Given the description of an element on the screen output the (x, y) to click on. 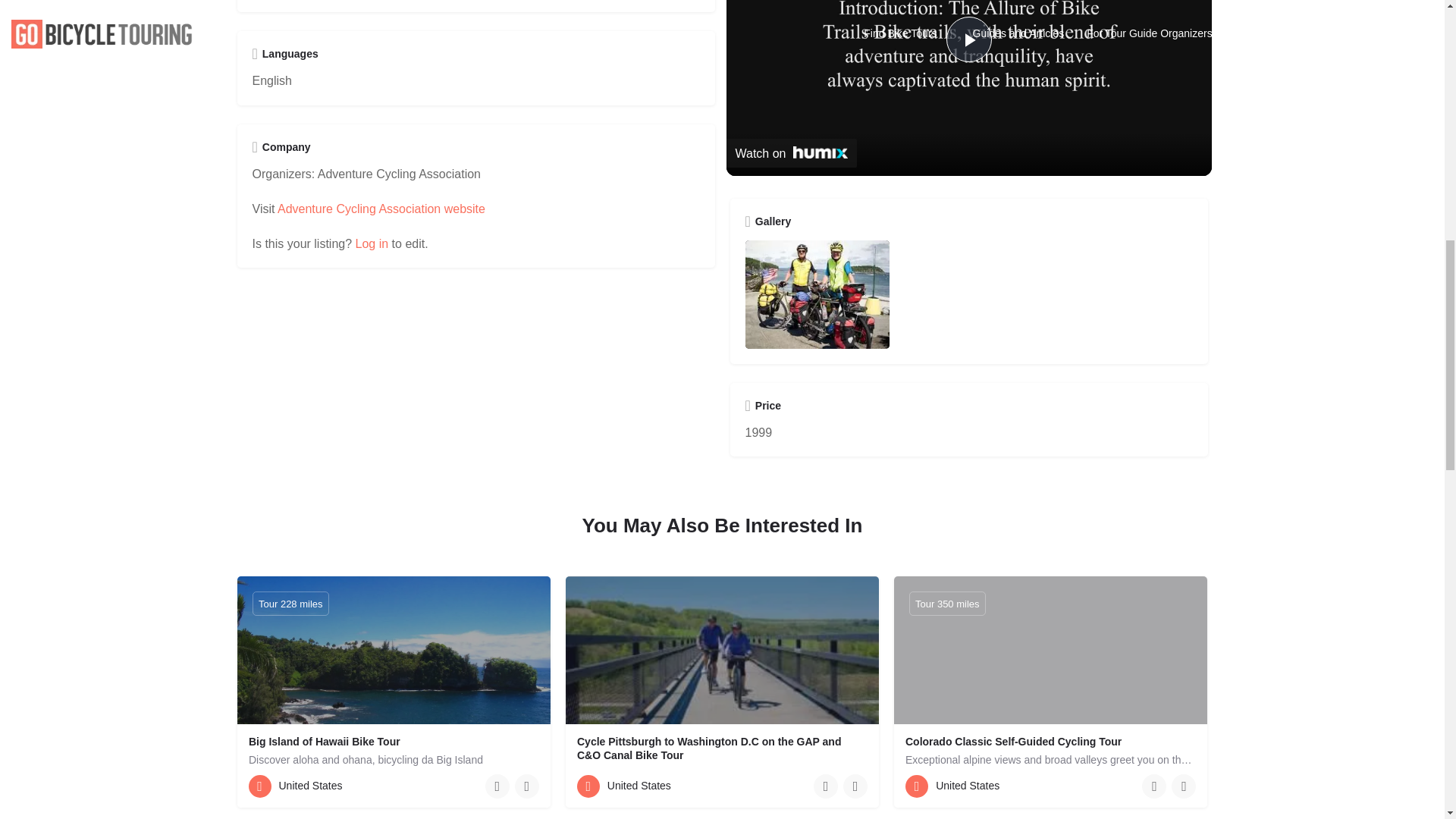
Play Video (968, 39)
Log in (371, 243)
Play Video (968, 39)
Adventure Cycling Association website (381, 208)
